Given the description of an element on the screen output the (x, y) to click on. 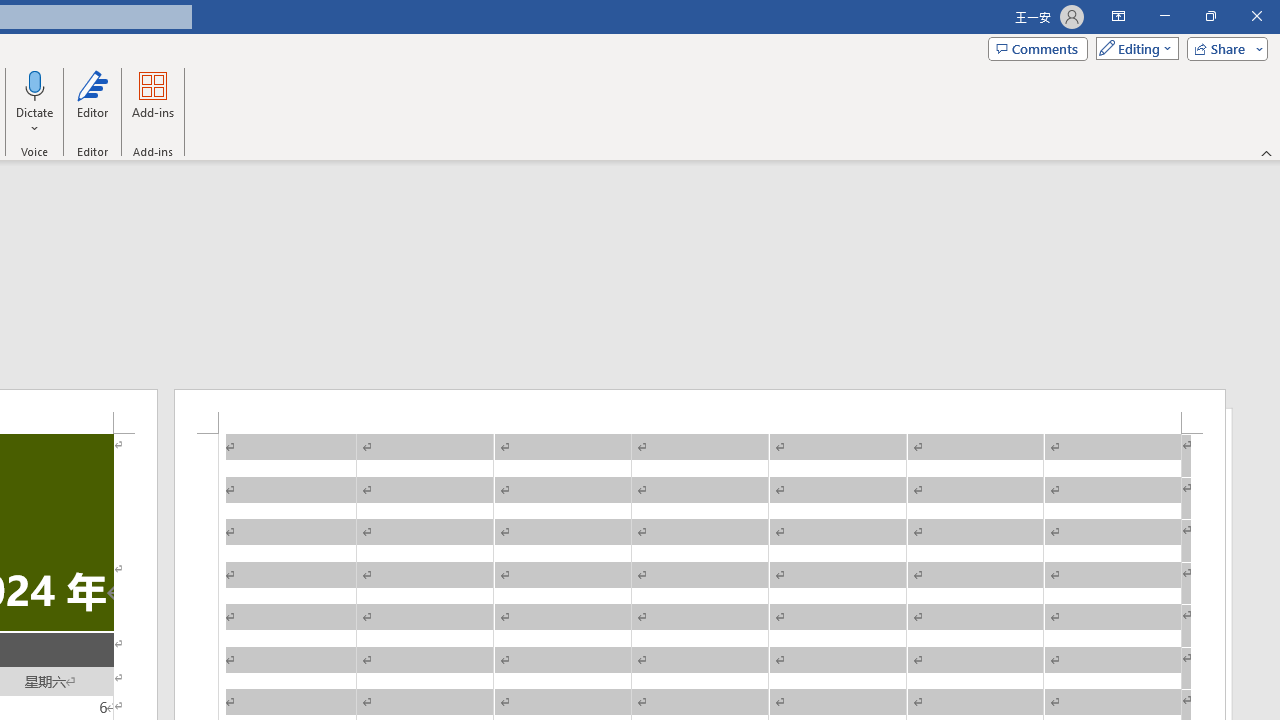
Header -Section 1- (700, 411)
Mode (1133, 47)
